Given the description of an element on the screen output the (x, y) to click on. 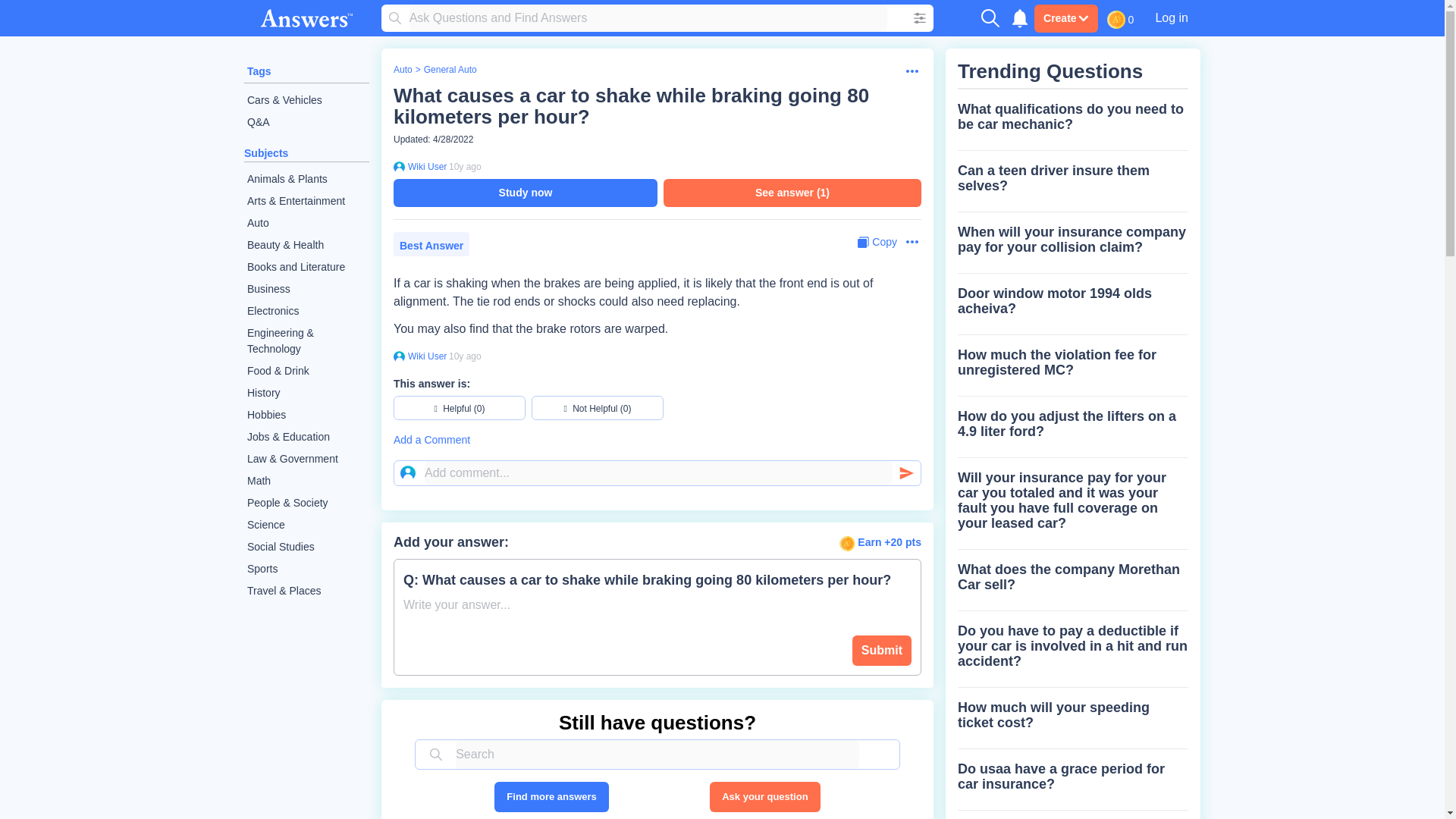
Subjects (266, 152)
Social Studies (306, 546)
Hobbies (306, 414)
Math (306, 481)
Log in (1170, 17)
Create (1065, 18)
Copy (876, 242)
Sports (306, 568)
Business (306, 289)
